Given the description of an element on the screen output the (x, y) to click on. 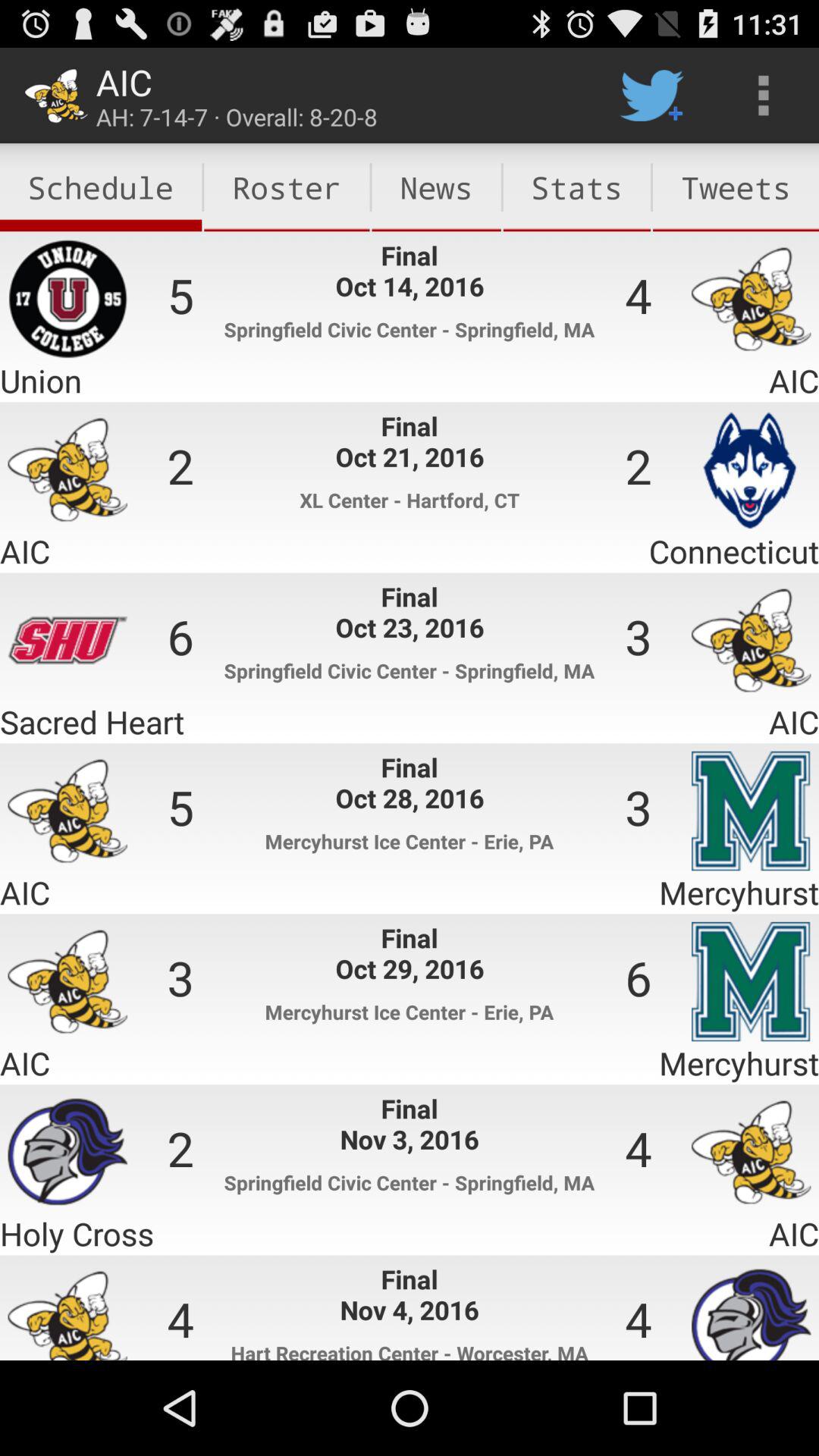
select the roster icon (286, 187)
